Given the description of an element on the screen output the (x, y) to click on. 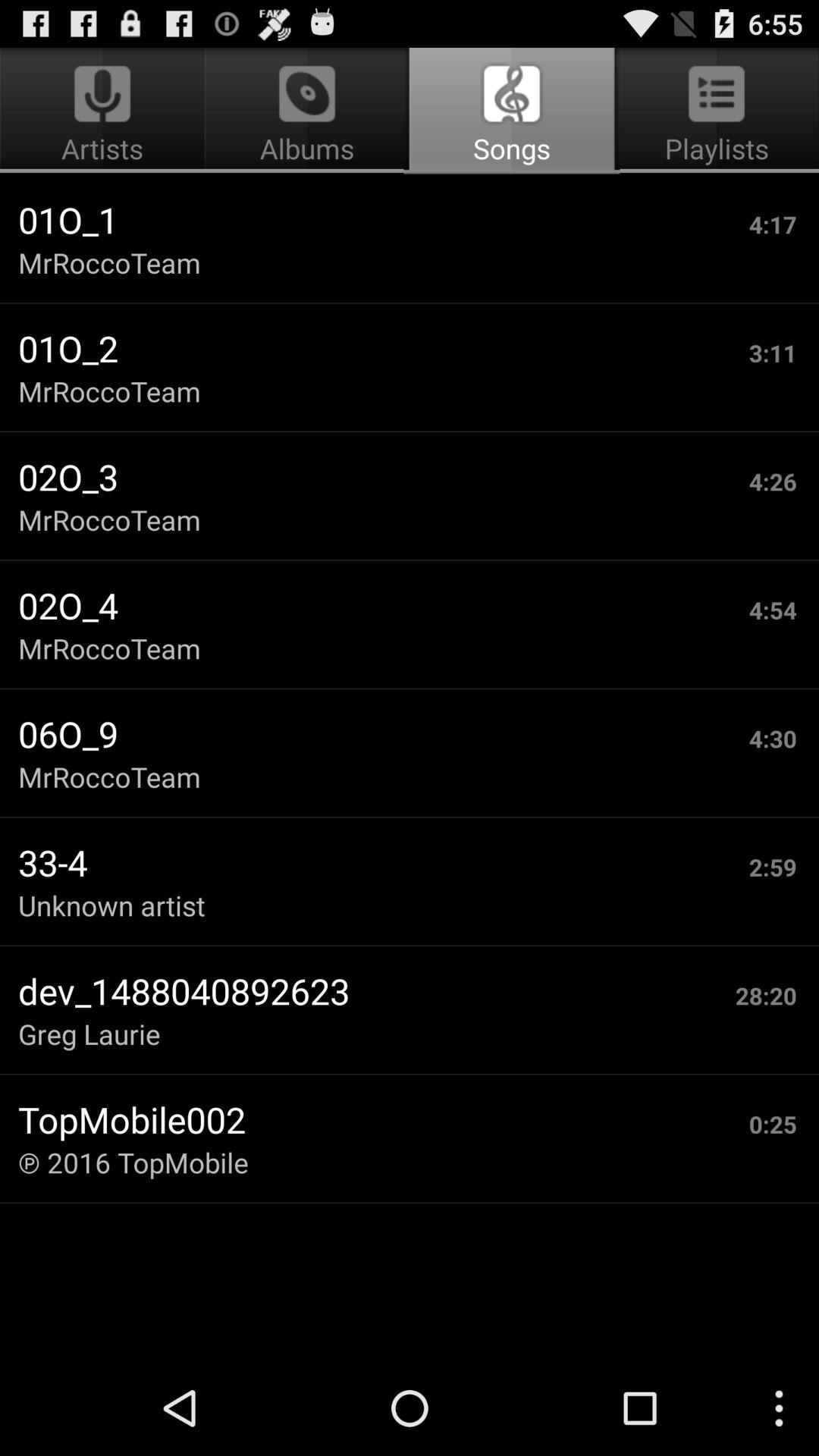
choose app next to the artists icon (511, 111)
